Given the description of an element on the screen output the (x, y) to click on. 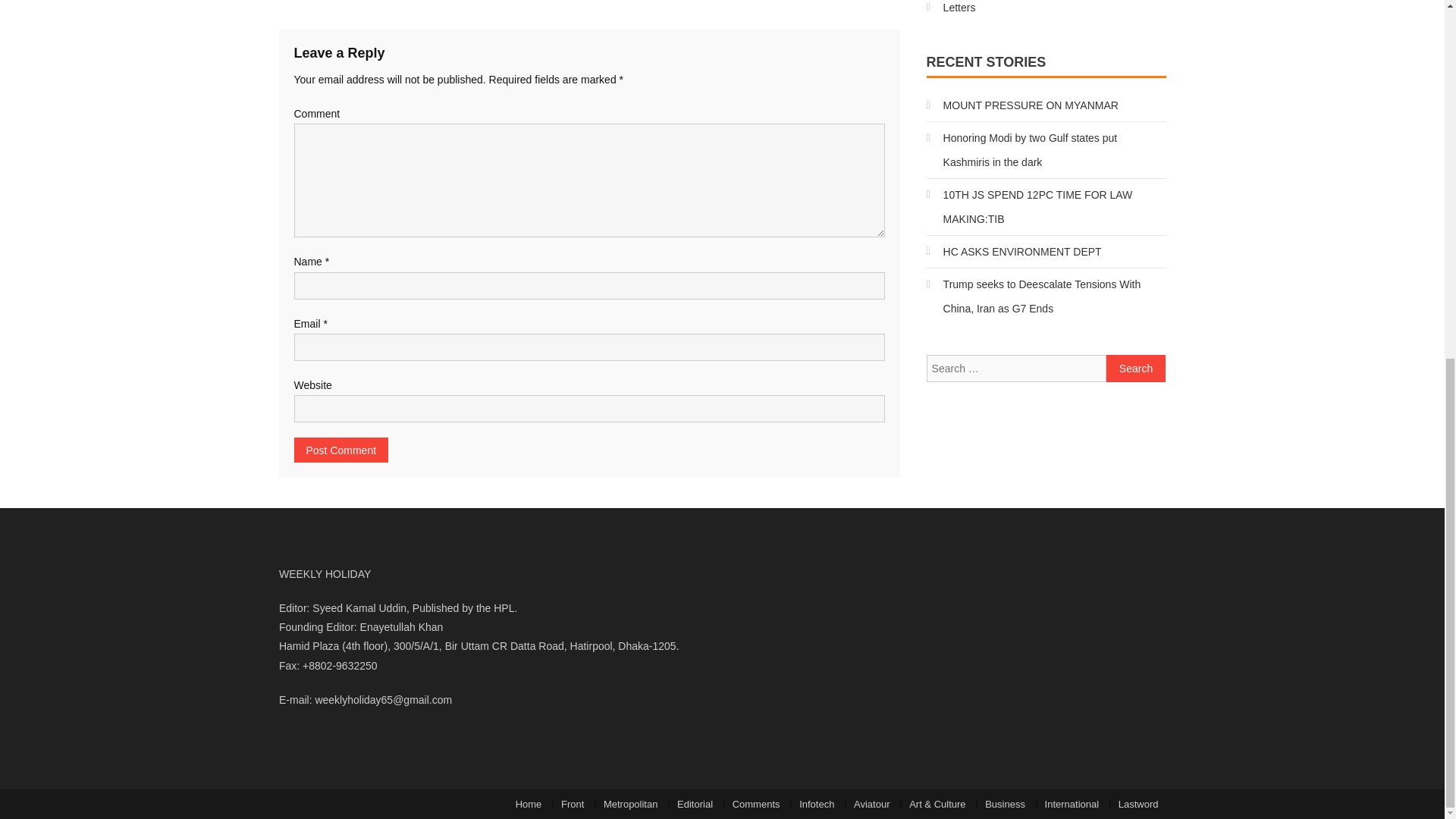
Search (1136, 368)
Post Comment (341, 449)
Post Comment (341, 449)
Search (1136, 368)
